Given the description of an element on the screen output the (x, y) to click on. 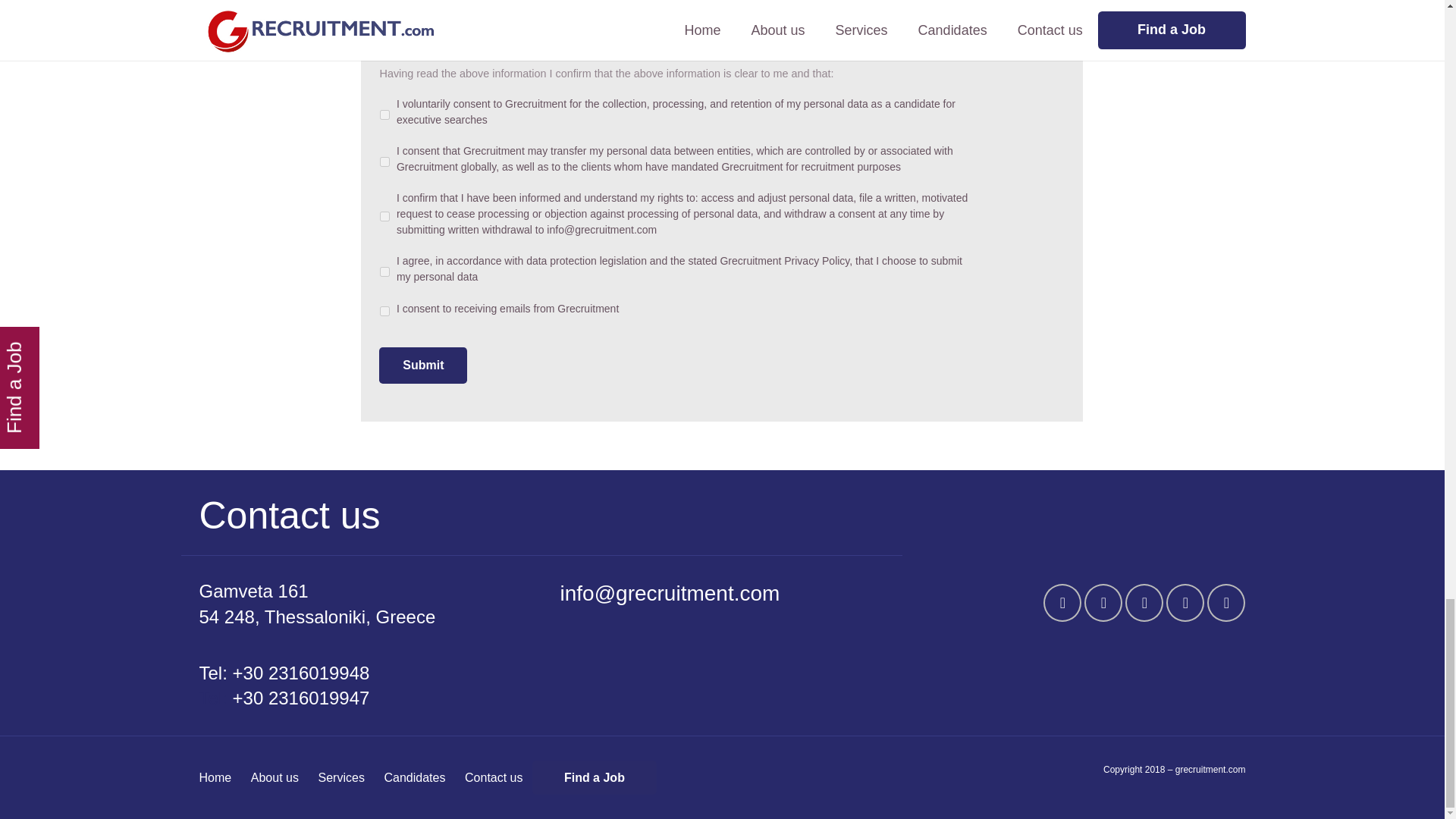
About us (274, 777)
Candidates (414, 777)
Find a Job (594, 777)
Services (341, 777)
Home (215, 777)
Submit (422, 365)
Contact us (493, 777)
Submit (422, 365)
I consent to receiving emails from Grecruitment (385, 311)
